Given the description of an element on the screen output the (x, y) to click on. 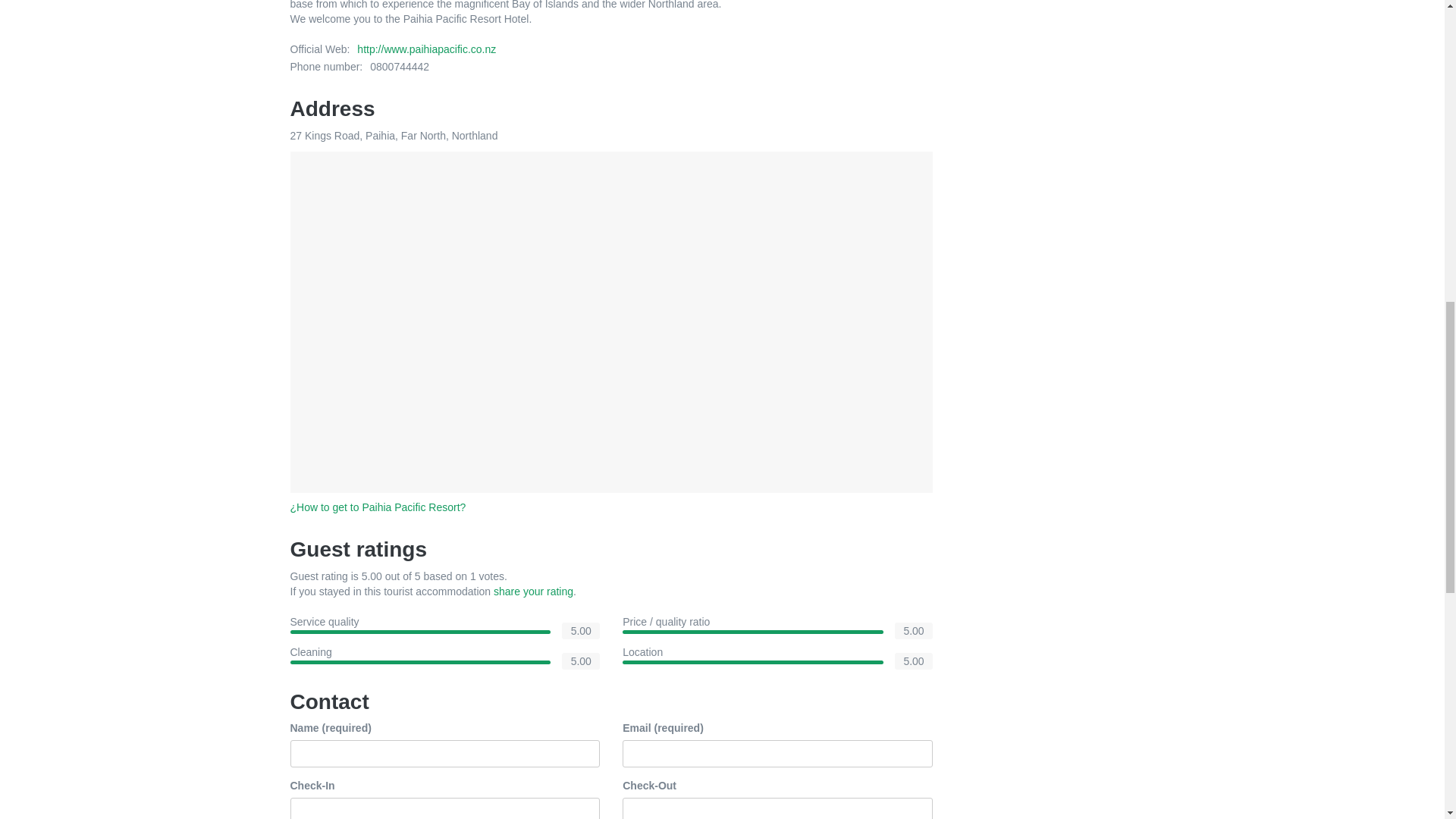
share your rating (533, 591)
